Given the description of an element on the screen output the (x, y) to click on. 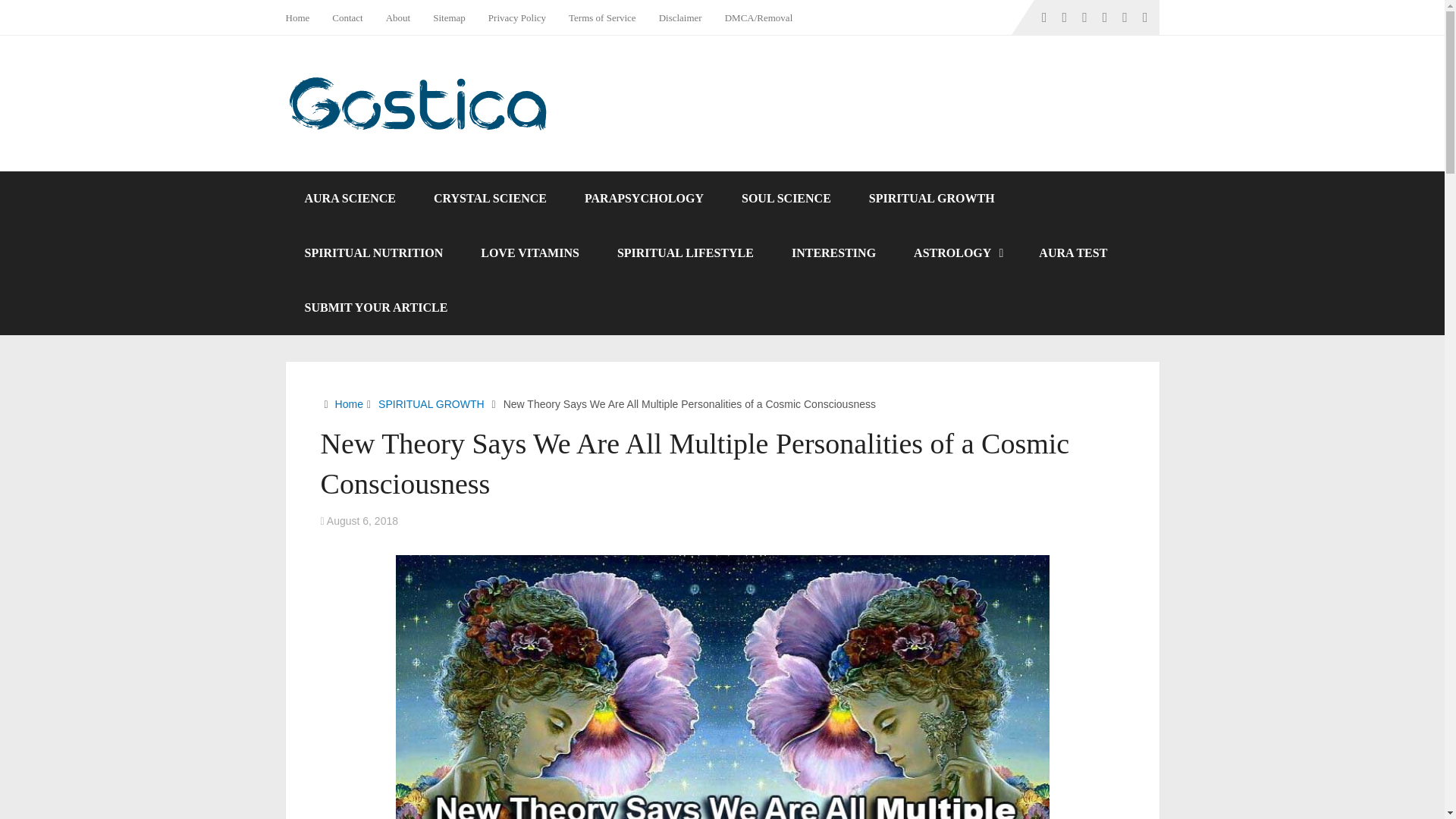
About (398, 17)
SPIRITUAL GROWTH (431, 404)
Contact (347, 17)
Terms of Service (602, 17)
ASTROLOGY (957, 253)
SPIRITUAL GROWTH (931, 198)
CRYSTAL SCIENCE (490, 198)
SUBMIT YOUR ARTICLE (375, 307)
PARAPSYCHOLOGY (644, 198)
Home (302, 17)
